Given the description of an element on the screen output the (x, y) to click on. 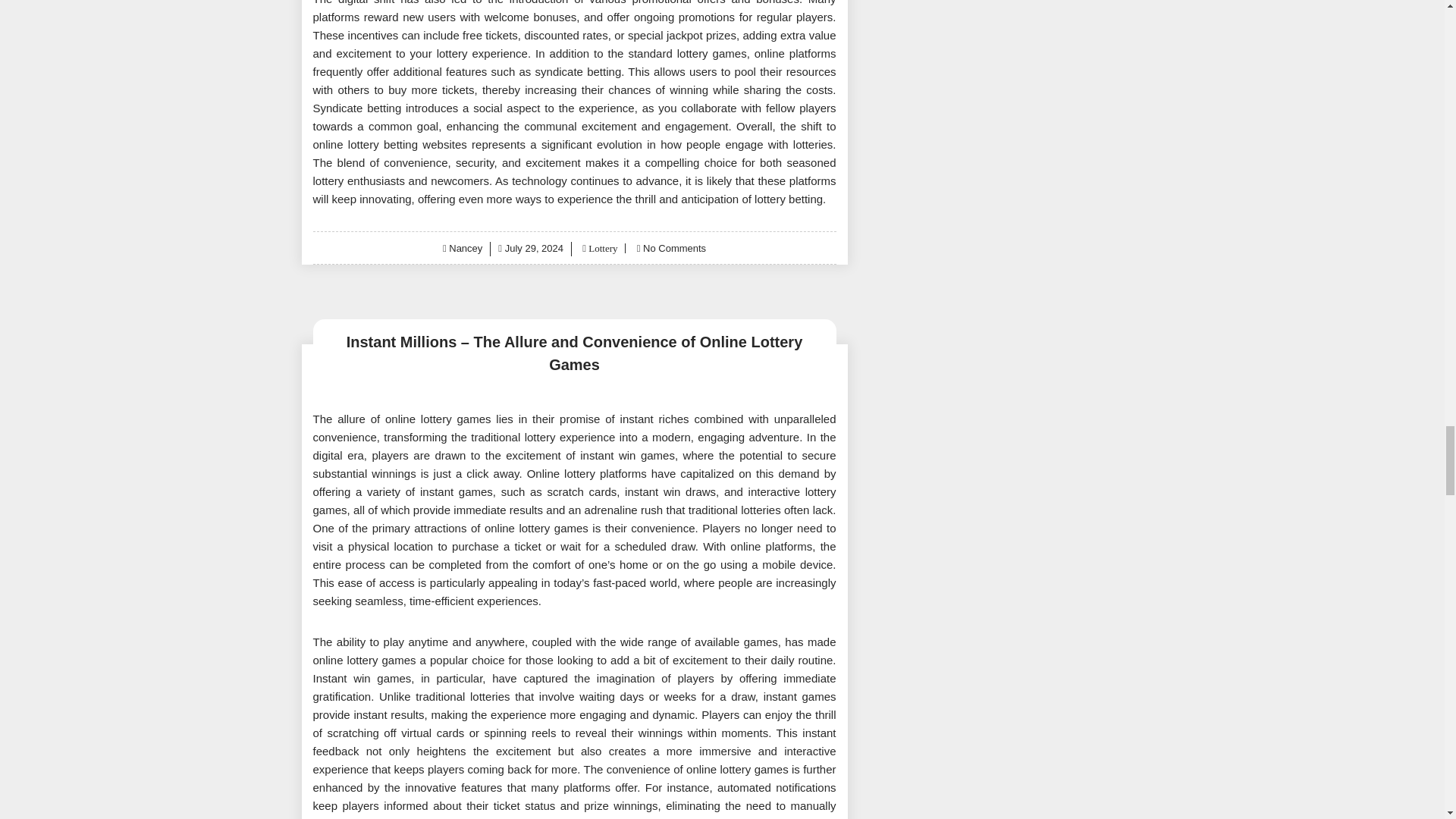
July 29, 2024 (534, 247)
Nancey (464, 247)
Lottery (601, 247)
No Comments (674, 247)
